Given the description of an element on the screen output the (x, y) to click on. 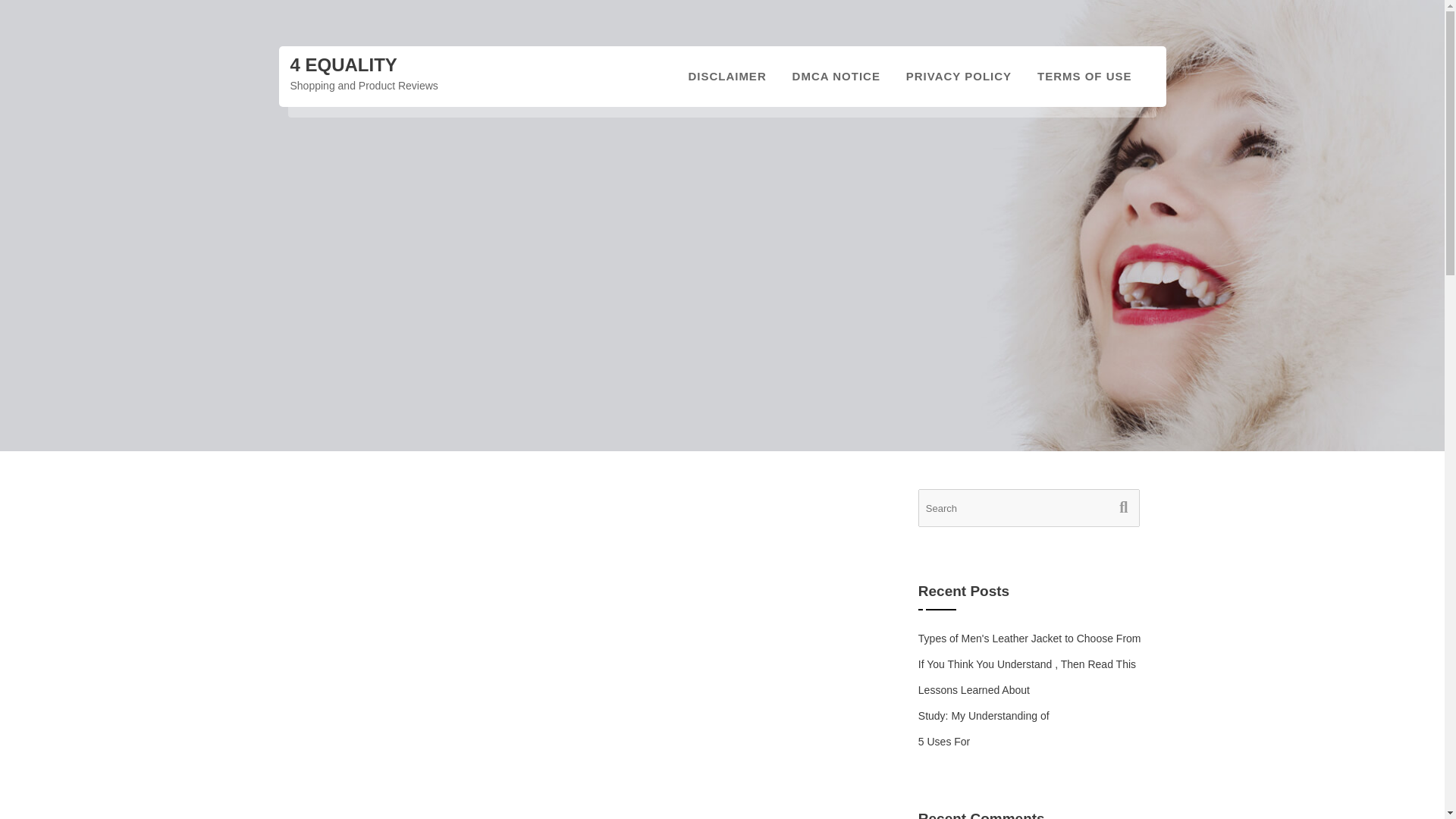
TERMS OF USE (1084, 76)
PRIVACY POLICY (959, 76)
DMCA NOTICE (835, 76)
5 Uses For (943, 741)
Study: My Understanding of (983, 715)
4 Equality (342, 64)
4 EQUALITY (342, 64)
Types of Men's Leather Jacket to Choose From (1029, 638)
Lessons Learned About (973, 689)
If You Think You Understand , Then Read This (1026, 664)
